Given the description of an element on the screen output the (x, y) to click on. 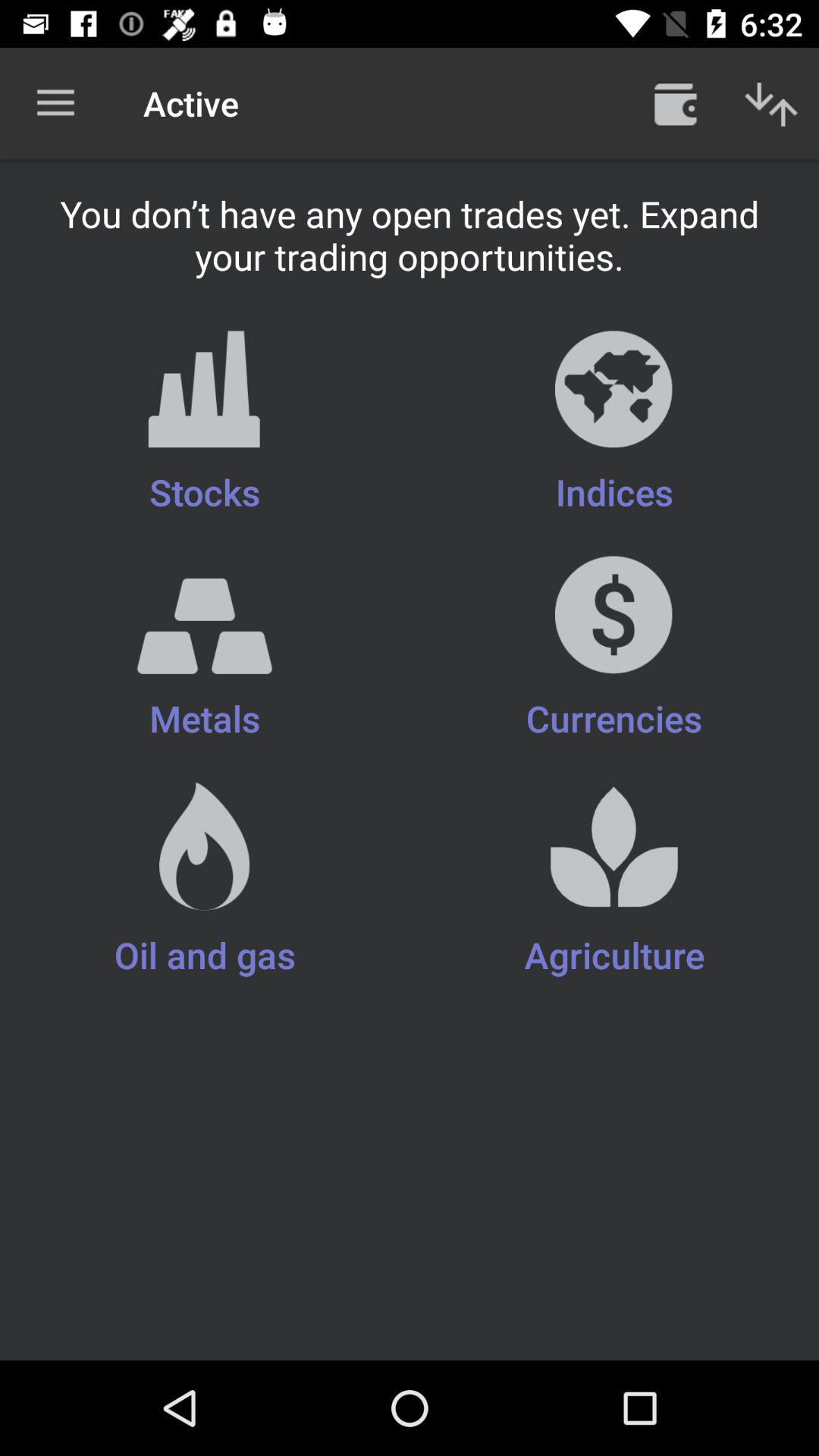
press metals item (204, 660)
